Given the description of an element on the screen output the (x, y) to click on. 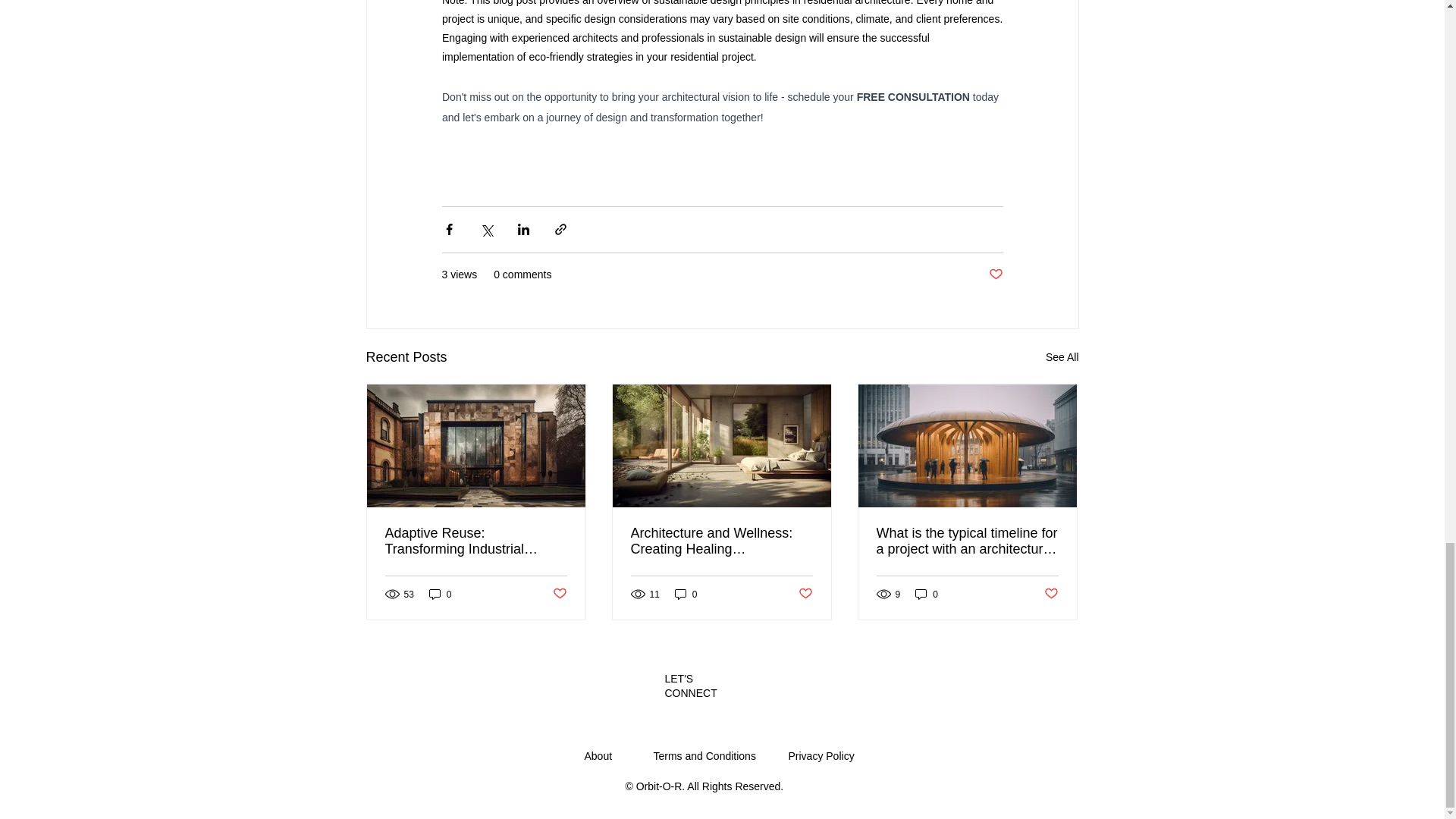
Post not marked as liked (1050, 593)
FREE CONSULTATION (912, 95)
See All (1061, 356)
0 (685, 594)
0 (926, 594)
Post not marked as liked (995, 274)
Post not marked as liked (558, 593)
Post not marked as liked (804, 593)
